Given the description of an element on the screen output the (x, y) to click on. 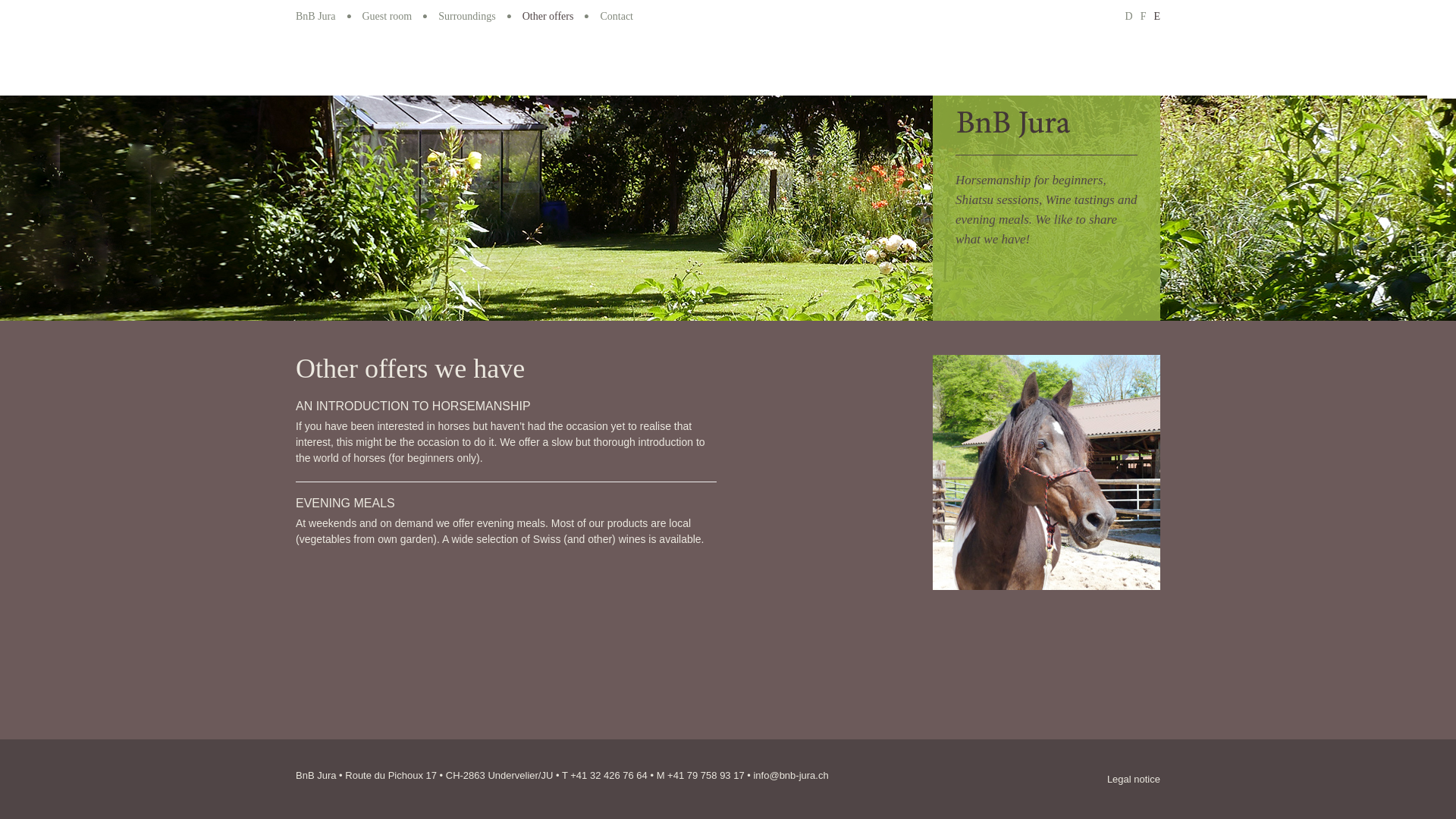
+41 32 426 76 64 Element type: text (608, 774)
D Element type: text (1126, 15)
Guest room Element type: text (387, 16)
+41 79 758 93 17 Element type: text (705, 774)
Legal notice Element type: text (1133, 778)
Surroundings Element type: text (466, 16)
info@bnb-jura.ch Element type: text (790, 774)
BnB Jura Element type: text (315, 16)
F Element type: text (1141, 15)
Contact Element type: text (616, 16)
